Given the description of an element on the screen output the (x, y) to click on. 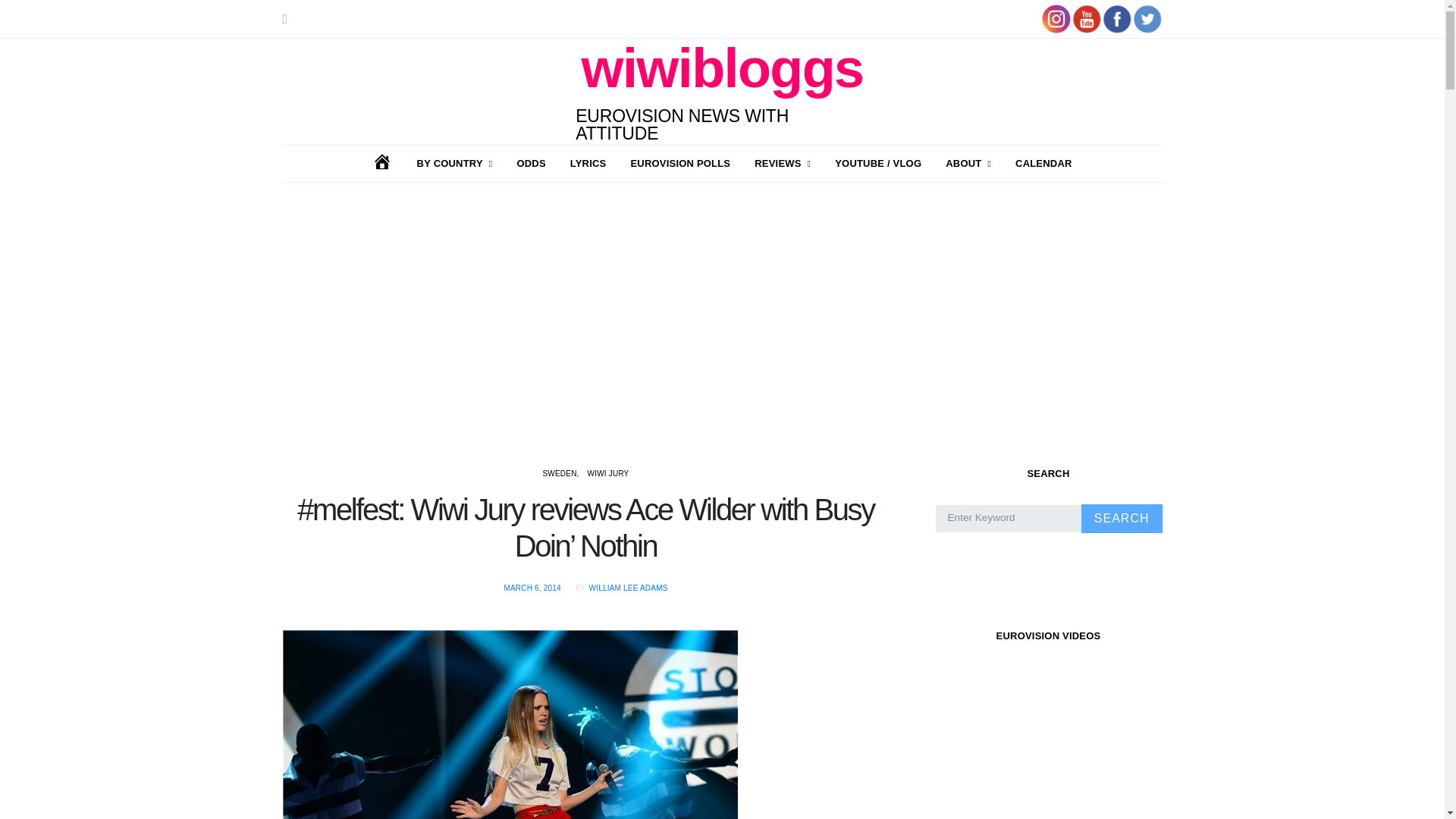
Eurovision (454, 163)
About wiwibloggs (967, 163)
View all posts by William Lee Adams (628, 587)
Eurovision and National Finals (782, 163)
